Given the description of an element on the screen output the (x, y) to click on. 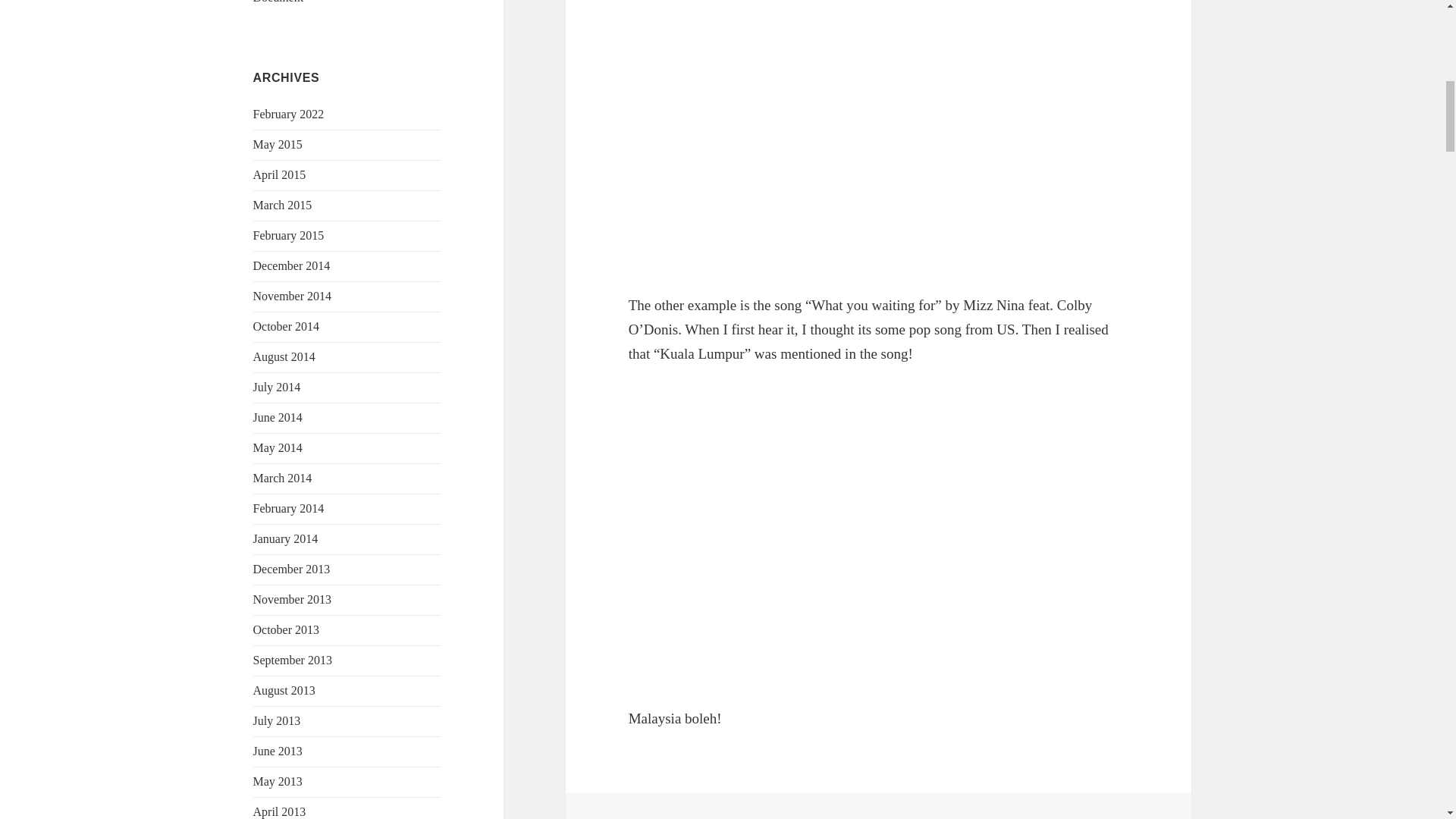
May 2013 (277, 780)
January 2014 (285, 538)
Borneo Court Document (322, 2)
August 2013 (284, 689)
March 2014 (283, 477)
June 2014 (277, 417)
February 2015 (288, 235)
September 2013 (292, 659)
December 2013 (291, 568)
June 2013 (277, 750)
February 2014 (288, 508)
March 2015 (283, 205)
April 2015 (279, 174)
November 2013 (292, 599)
May 2015 (277, 144)
